Given the description of an element on the screen output the (x, y) to click on. 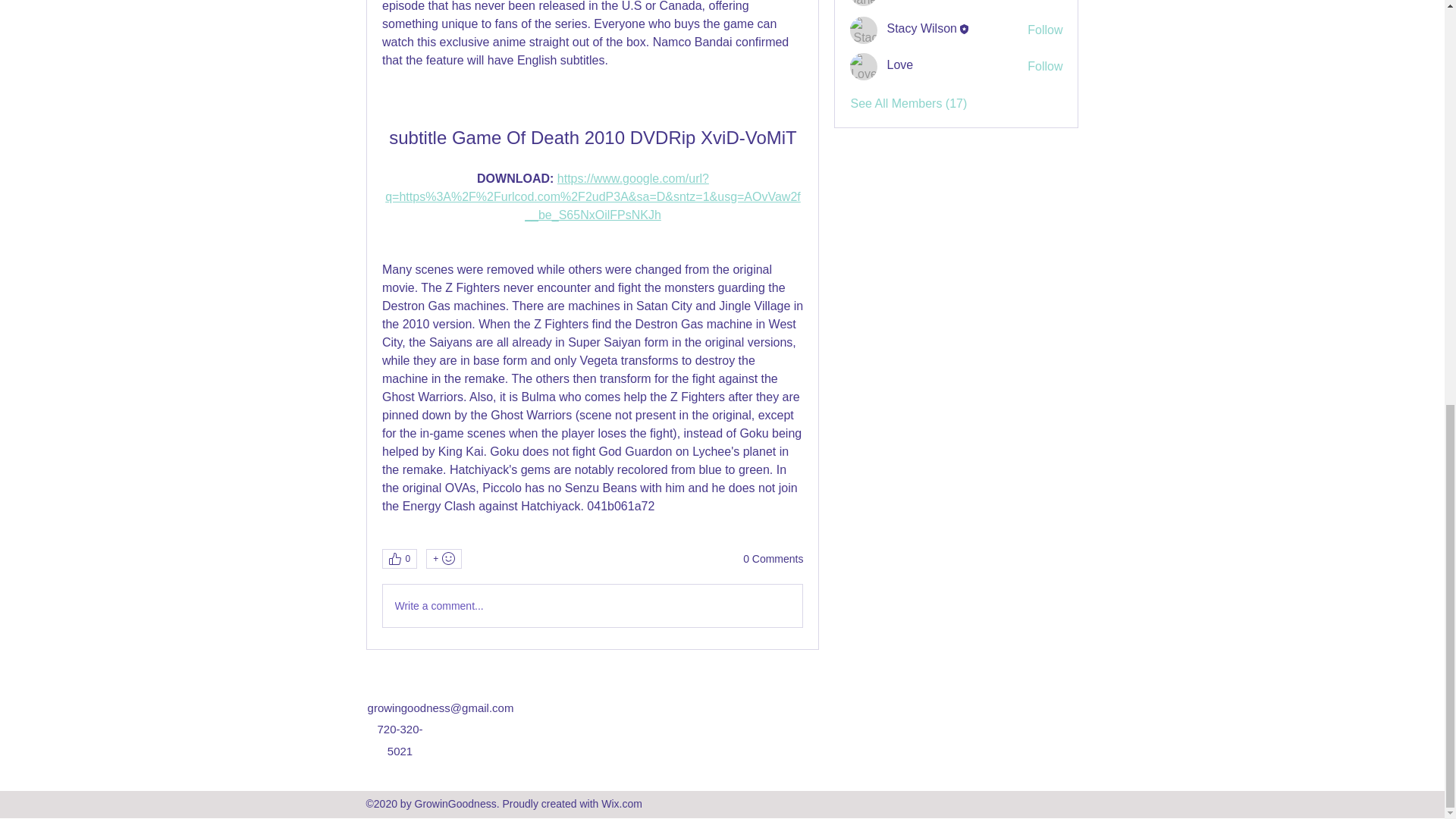
Write a comment... (591, 605)
Follow (1044, 0)
Love (899, 64)
0 Comments (772, 559)
Follow (1044, 66)
Love (863, 66)
Stacy Wilson (921, 28)
Stacy Wilson (921, 28)
